Given the description of an element on the screen output the (x, y) to click on. 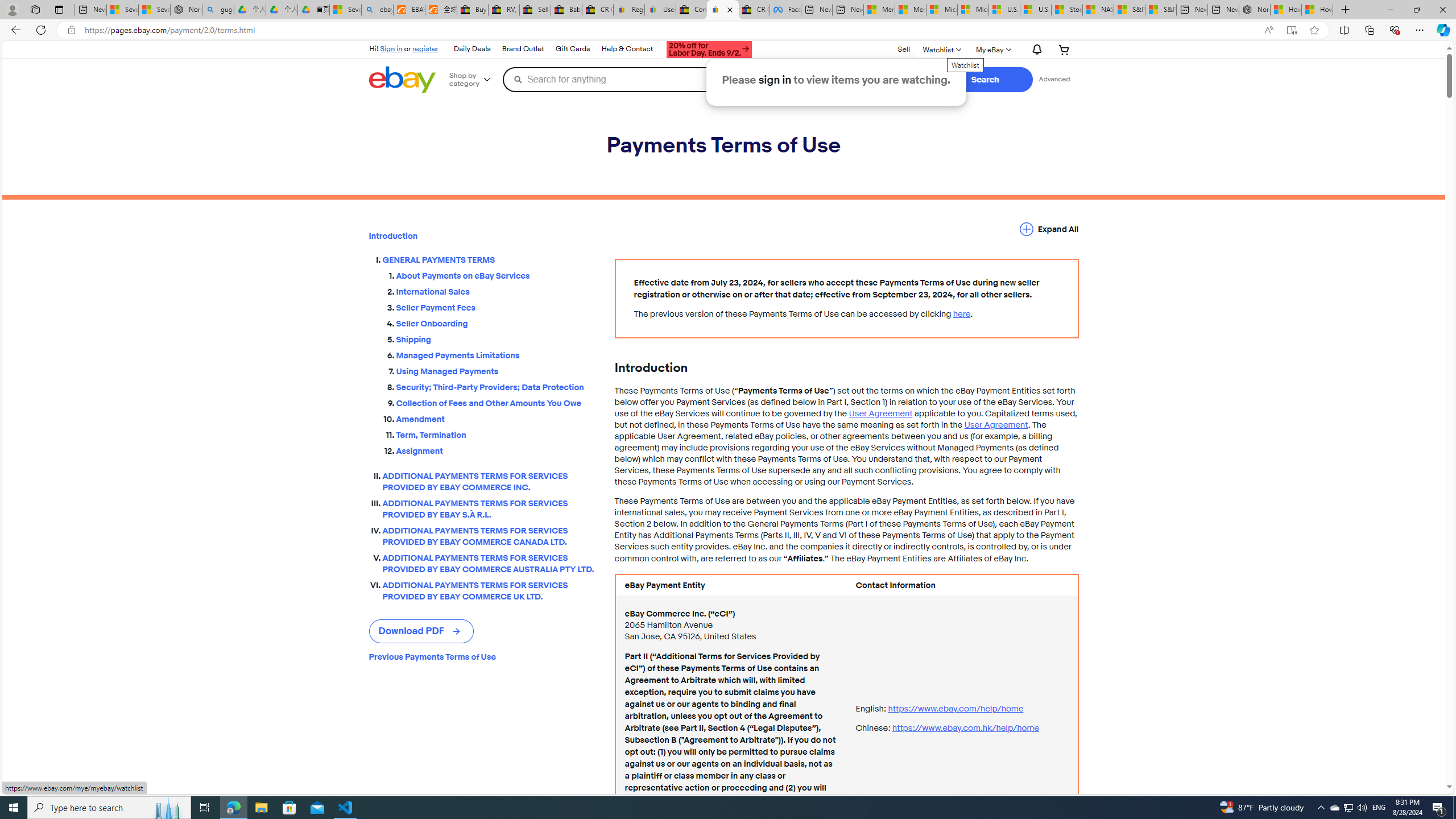
Facebook (785, 9)
Assignment (496, 451)
Buy Auto Parts & Accessories | eBay (472, 9)
Advanced Search (1053, 78)
Previous Payments Terms of Use (482, 657)
About Payments on eBay Services (496, 275)
Select a category for search (884, 78)
here (961, 314)
Amendment (496, 419)
Consumer Health Data Privacy Policy - eBay Inc. (691, 9)
